Given the description of an element on the screen output the (x, y) to click on. 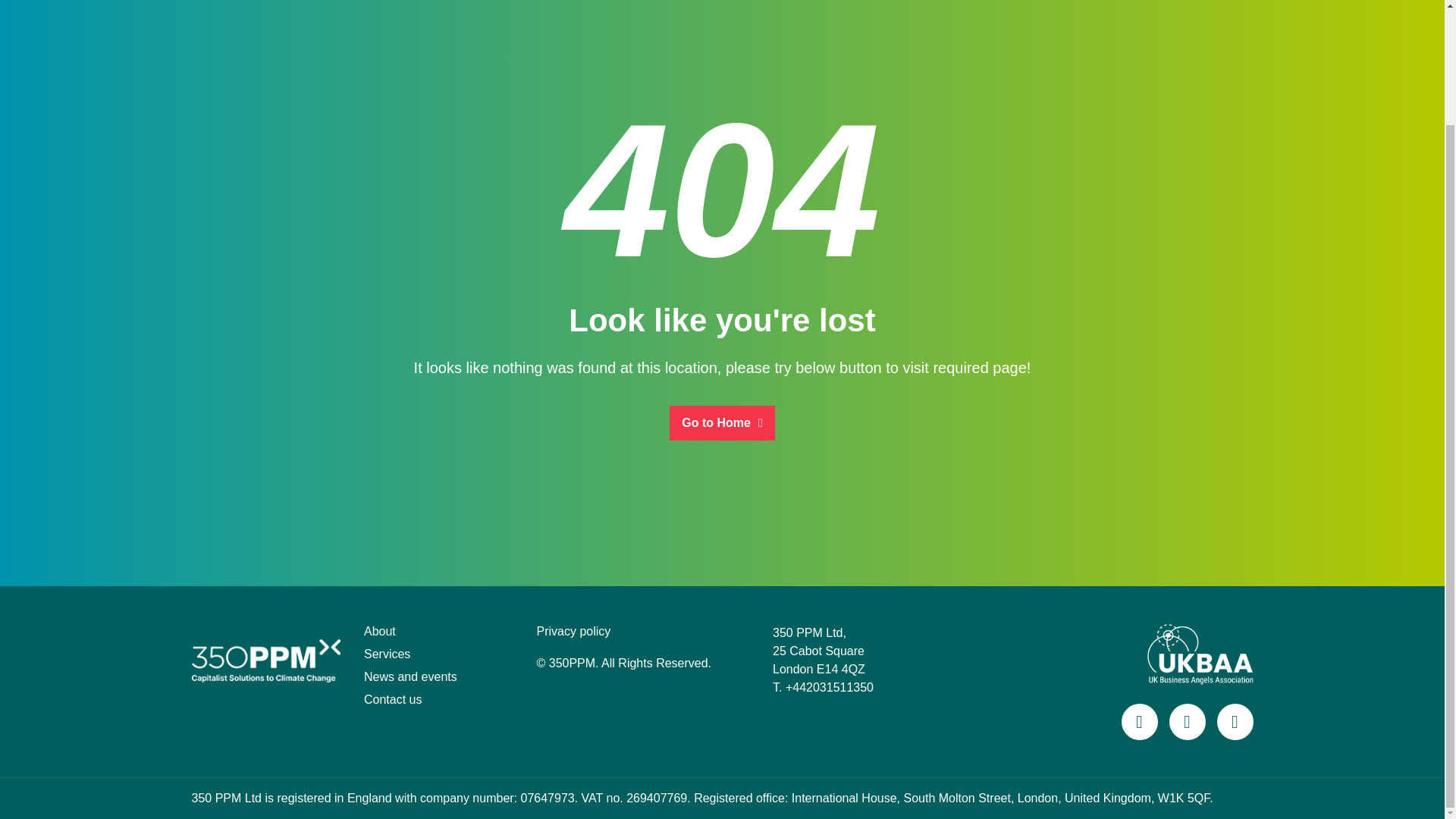
Privacy policy (574, 631)
Go to Home (721, 421)
News and events (410, 676)
Contact us (393, 698)
About (380, 631)
Services (387, 653)
